Given the description of an element on the screen output the (x, y) to click on. 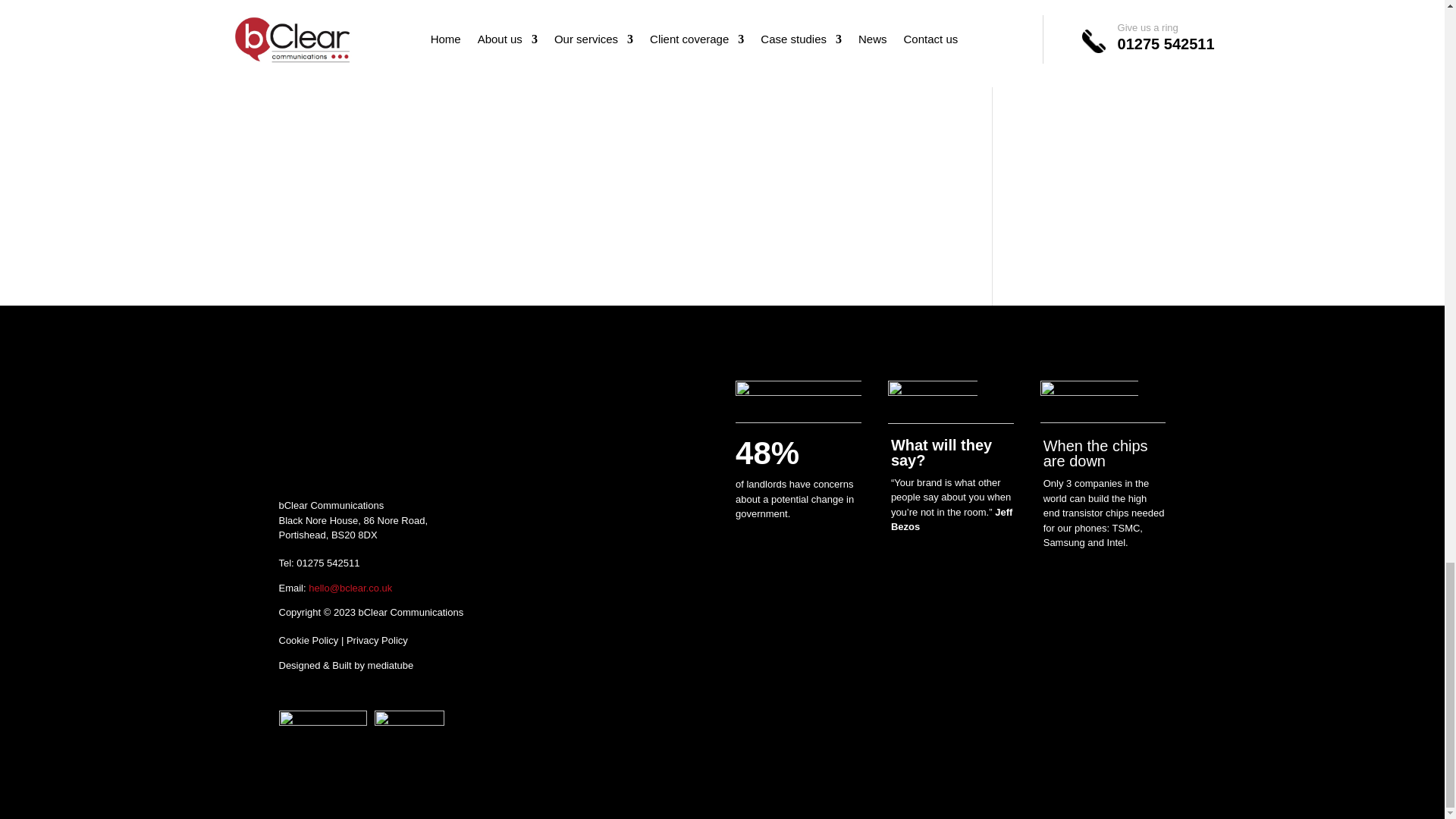
bEnlightened bInformed bInspired WHITE TEXT (798, 393)
